Given the description of an element on the screen output the (x, y) to click on. 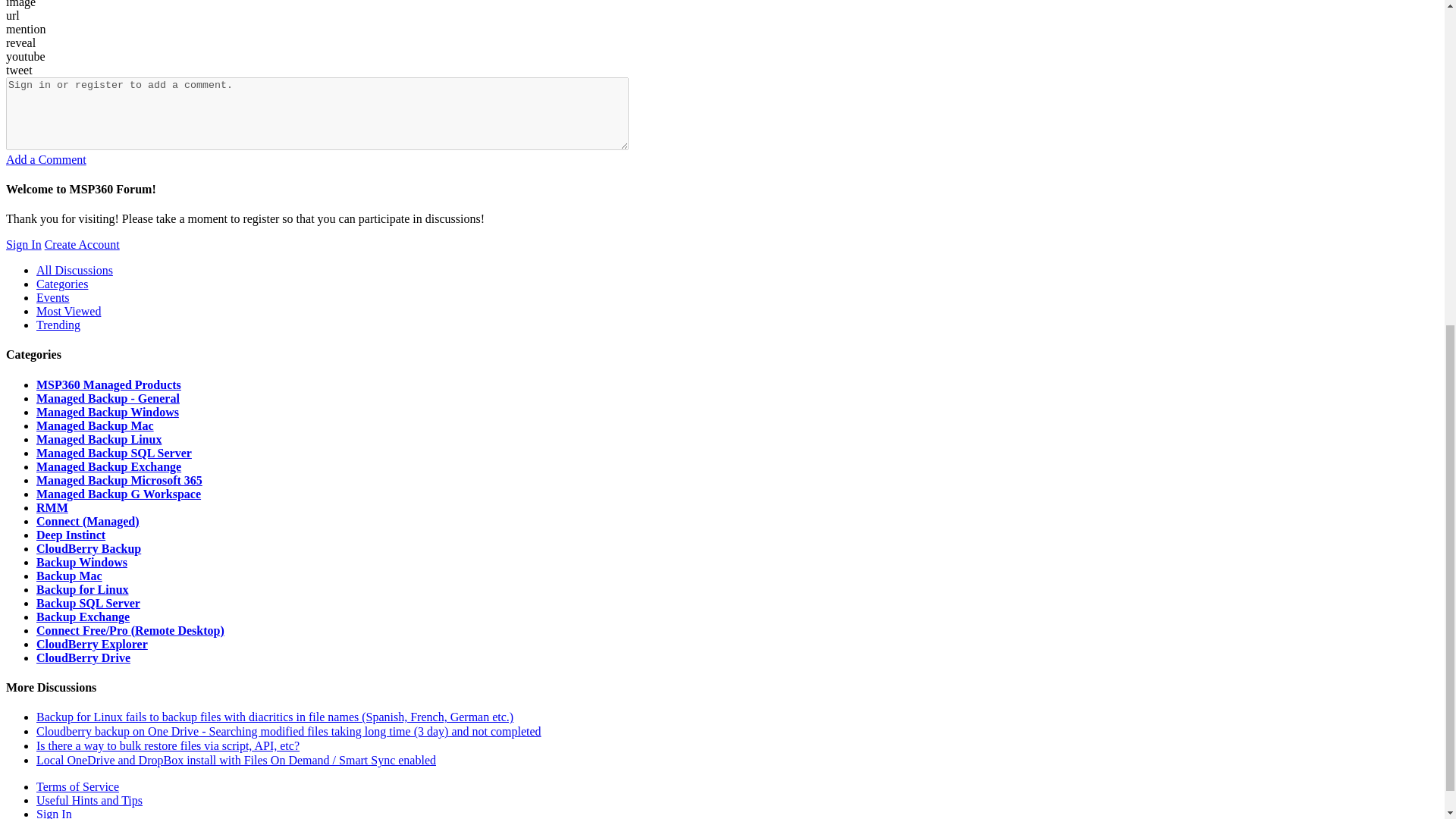
Managed Backup - General (107, 398)
Most Viewed (68, 310)
Managed Backup SQL Server (114, 452)
Categories (61, 283)
Managed Backup Windows (107, 411)
Managed Backup Microsoft 365 (119, 480)
Managed Backup Mac (95, 425)
RMM (52, 507)
MSP360 Managed Products (108, 384)
Create Account (82, 244)
Managed Backup Exchange (108, 466)
Events (52, 297)
Managed Backup G Workspace (118, 493)
Managed Backup Linux (98, 439)
Add a Comment (45, 159)
